Given the description of an element on the screen output the (x, y) to click on. 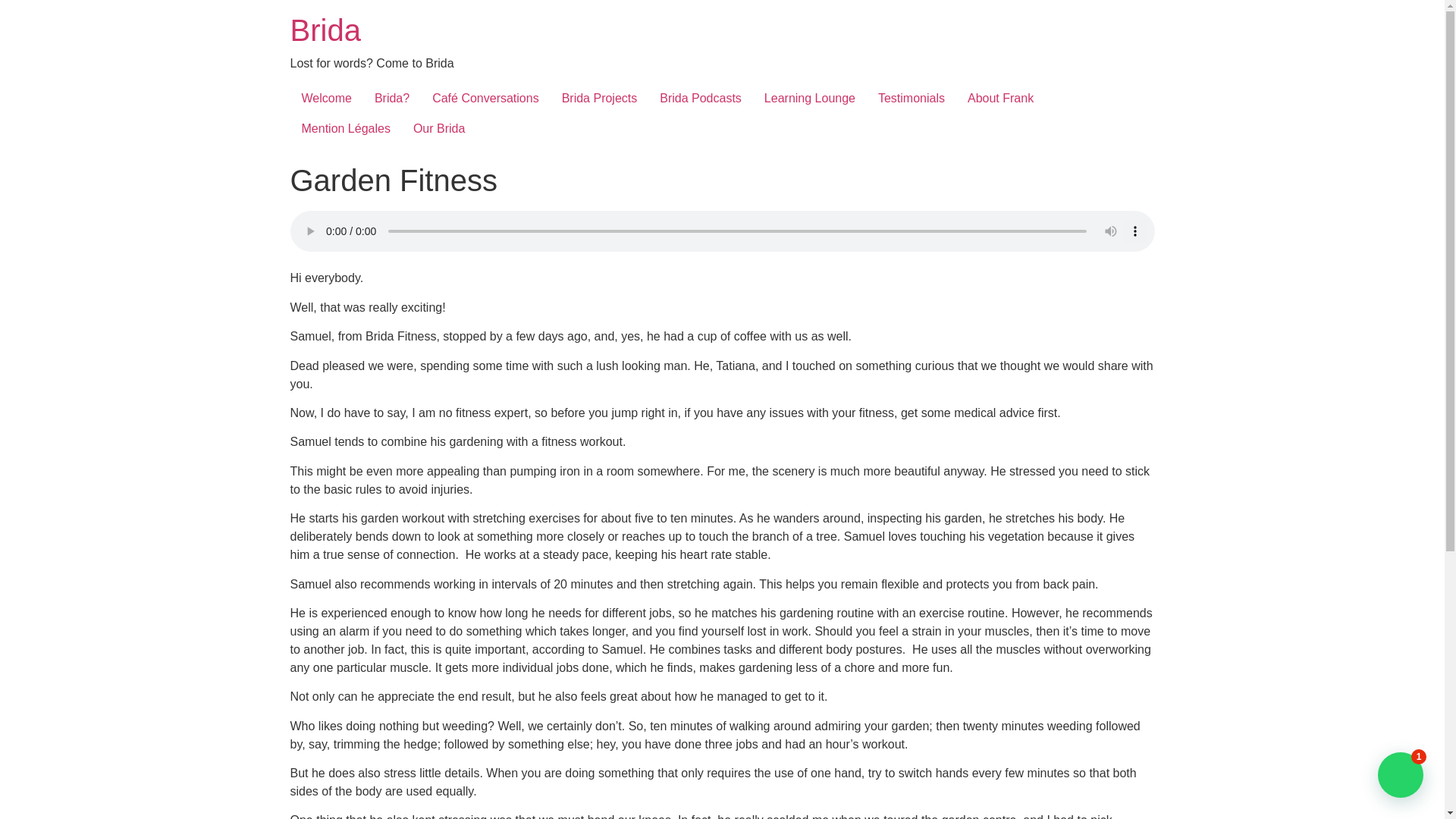
Our Brida (438, 128)
About Frank (1000, 98)
Testimonials (911, 98)
Home (324, 29)
Learning Lounge (809, 98)
Brida (324, 29)
Welcome (325, 98)
Brida? (391, 98)
Brida Podcasts (699, 98)
Brida Projects (599, 98)
